Given the description of an element on the screen output the (x, y) to click on. 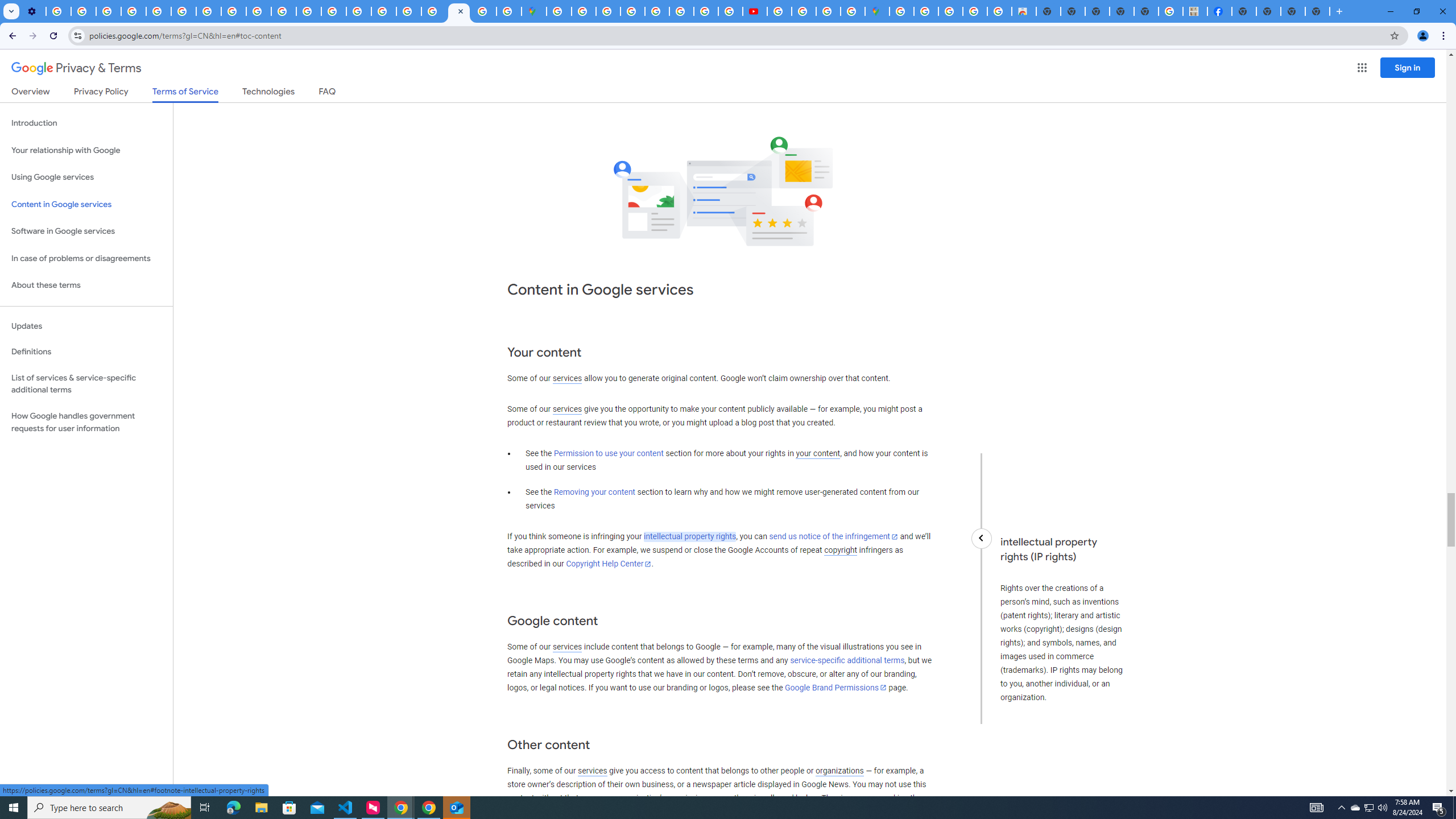
New Tab (1317, 11)
Privacy Help Center - Policies Help (705, 11)
Sign in - Google Accounts (433, 11)
Sign in - Google Accounts (583, 11)
Learn how to find your photos - Google Photos Help (83, 11)
Privacy Checkup (283, 11)
Subscriptions - YouTube (754, 11)
Google Brand Permissions (835, 687)
List of services & service-specific additional terms (86, 383)
